Given the description of an element on the screen output the (x, y) to click on. 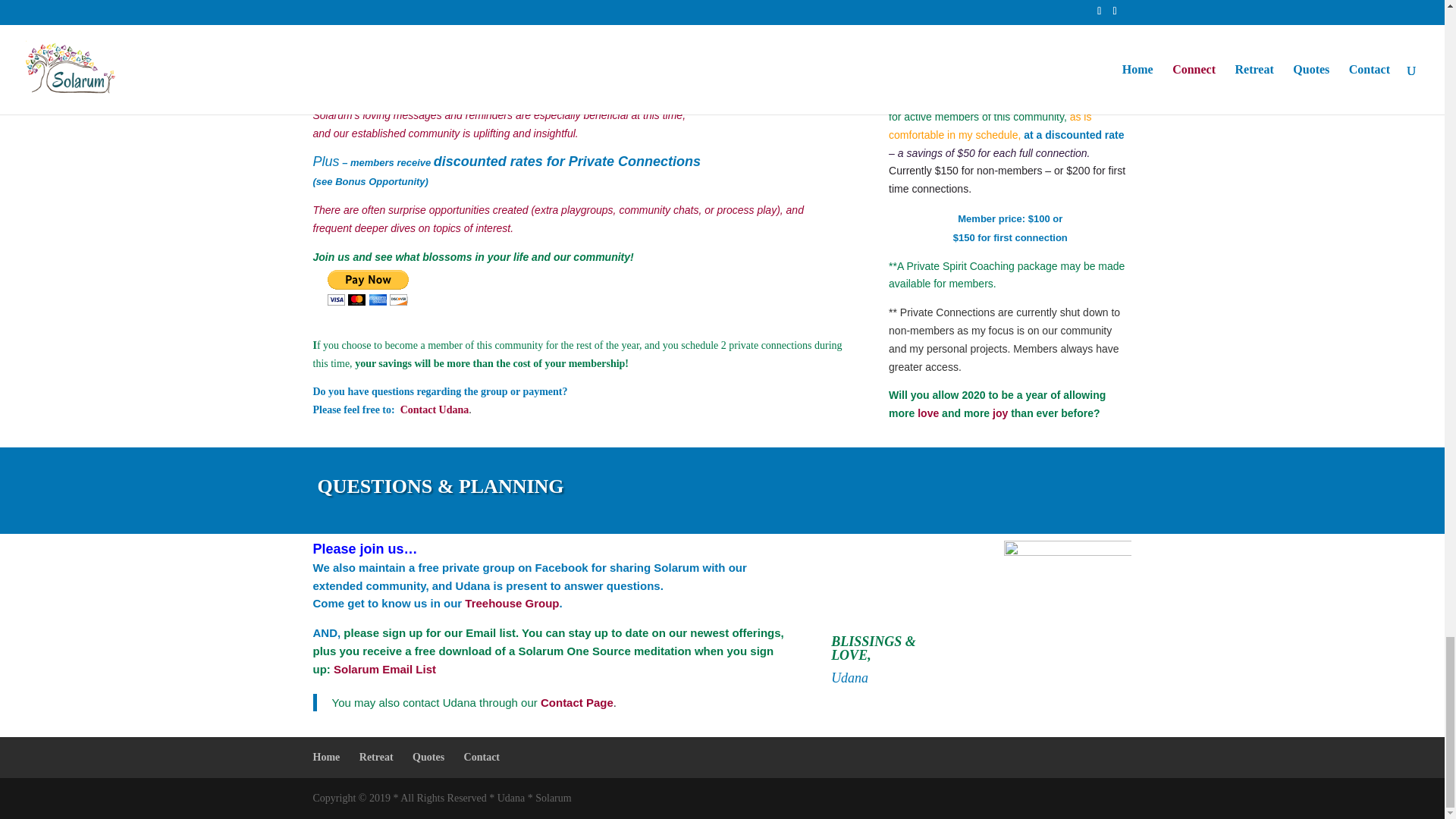
Home (326, 756)
Solarum Email List (384, 668)
Quotes (428, 756)
Contact Udana (434, 409)
Contact (481, 756)
Contact (434, 409)
Treehouse Group (511, 603)
Retreat (376, 756)
Contact Page (576, 702)
